Given the description of an element on the screen output the (x, y) to click on. 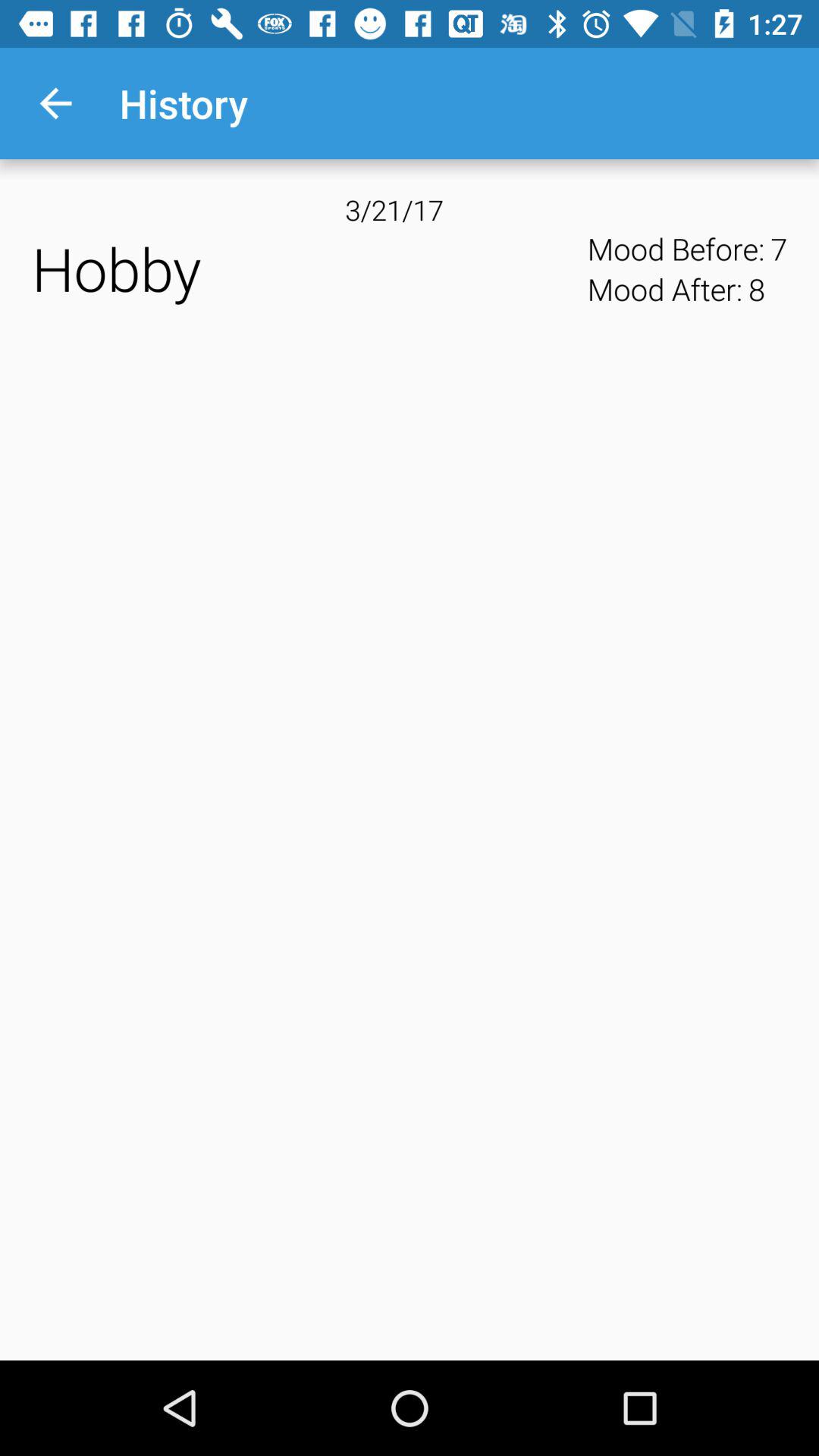
open the 8 (756, 289)
